Given the description of an element on the screen output the (x, y) to click on. 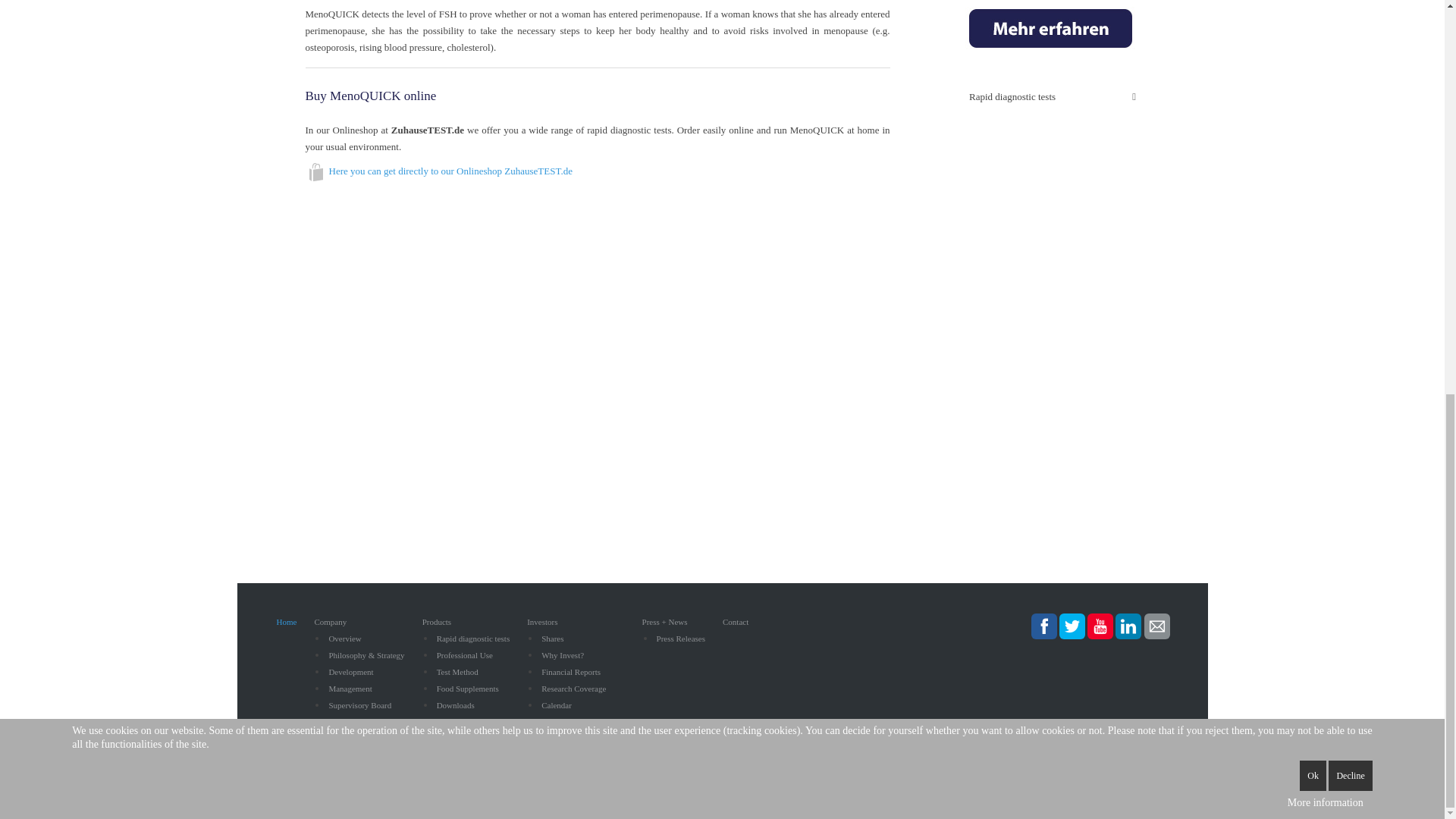
Here you can get directly to our Onlineshop ZuhauseTEST.de (450, 170)
